Given the description of an element on the screen output the (x, y) to click on. 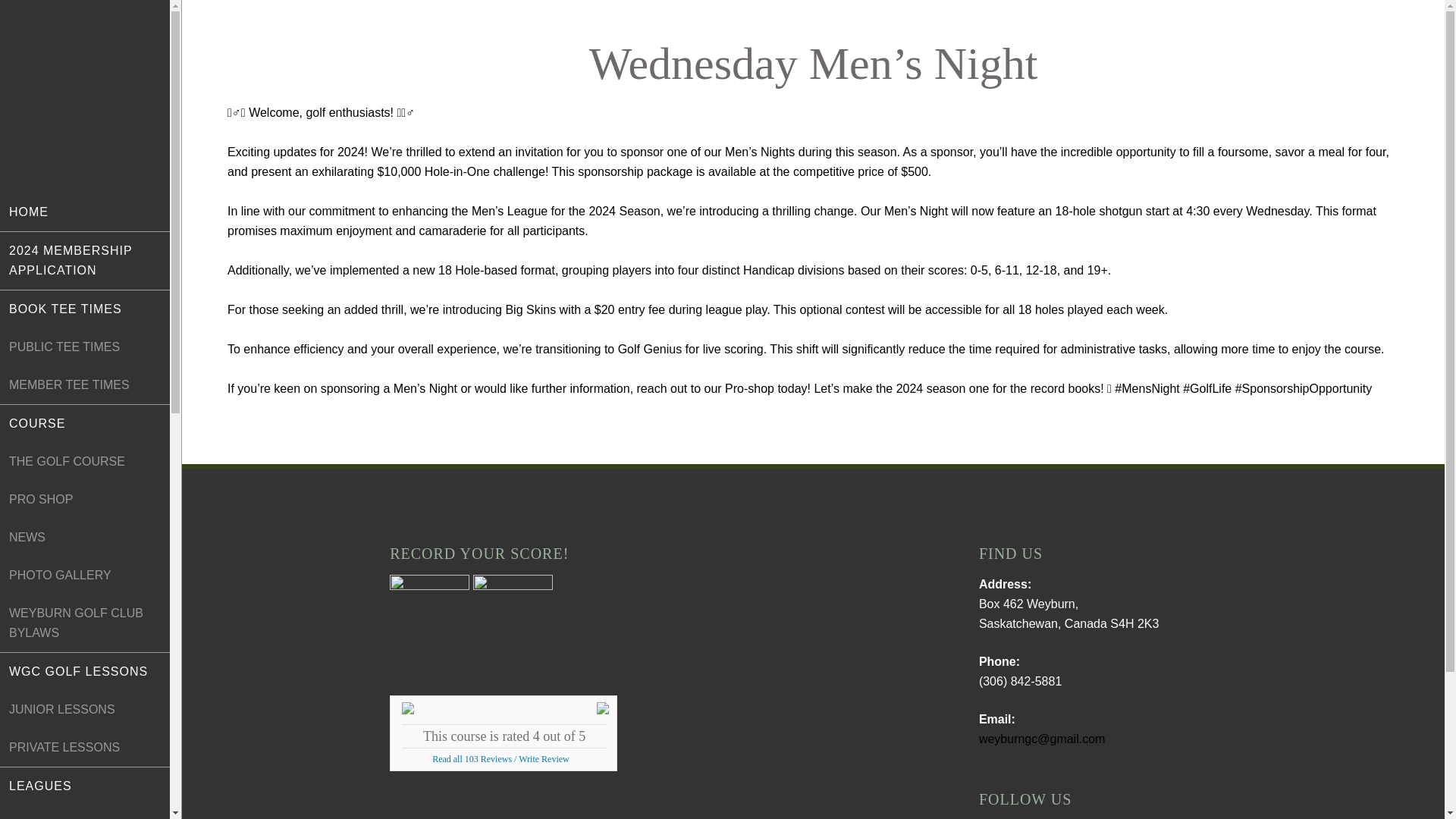
PRO SHOP (85, 499)
PHOTO GALLERY (85, 575)
LEAGUES (85, 786)
WEYBURN GOLF CLUB BYLAWS (85, 622)
JUNIOR LESSONS (85, 709)
THE WEYBURN GOLF CLUB (84, 96)
MEMBER TEE TIMES (85, 385)
2024 MEMBERSHIP APPLICATION (85, 260)
COURSE (85, 423)
PRIVATE LESSONS (85, 747)
